Given the description of an element on the screen output the (x, y) to click on. 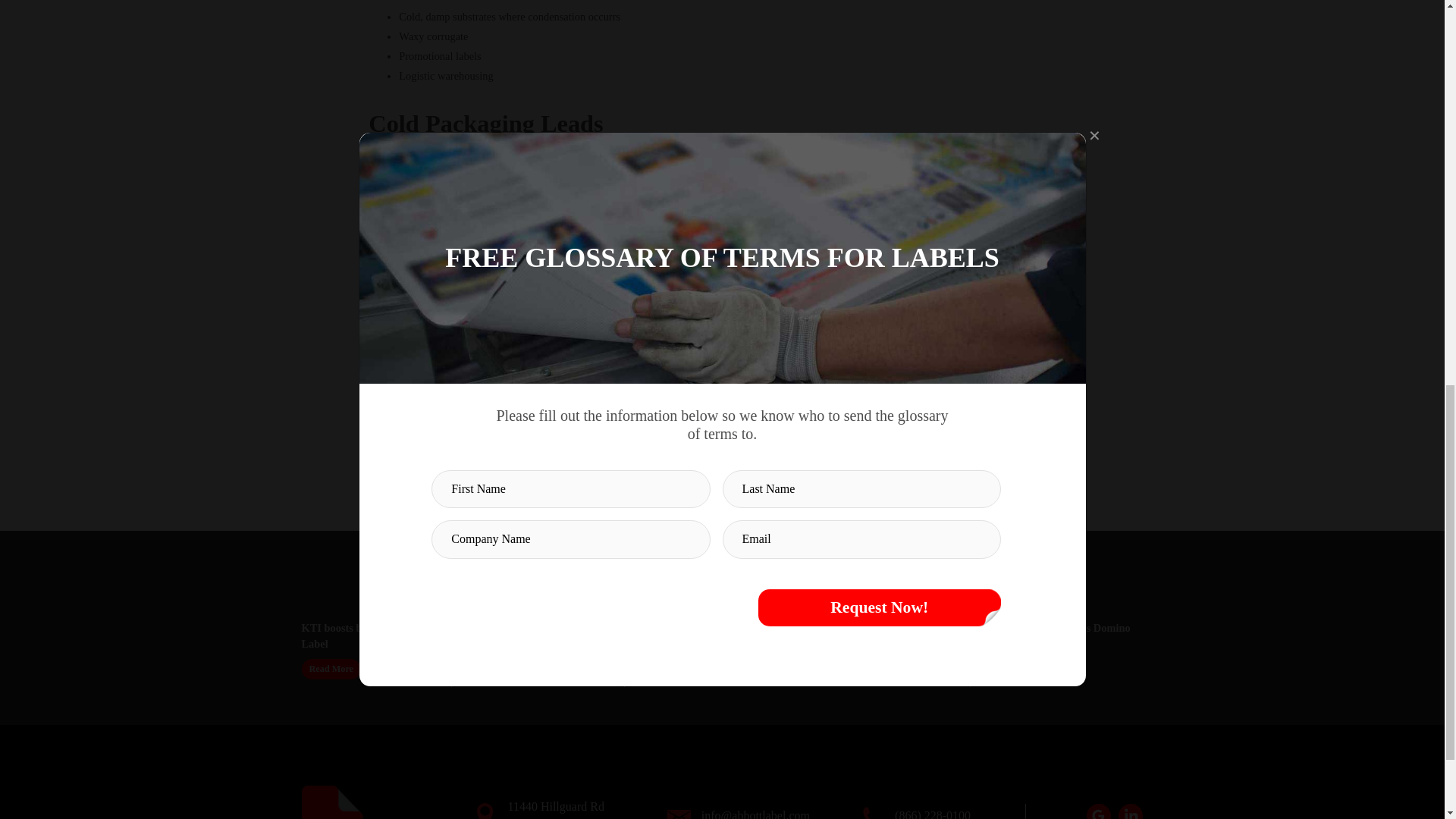
Read More (504, 669)
Meat Processing Companies (433, 204)
Read More (677, 653)
google (1098, 811)
linkedin (1130, 811)
Read More (331, 669)
Cheese Manufacturers (421, 162)
Read More (1022, 669)
PREVIOUS POST (539, 353)
Read More (850, 669)
NEXT POST (904, 353)
